Given the description of an element on the screen output the (x, y) to click on. 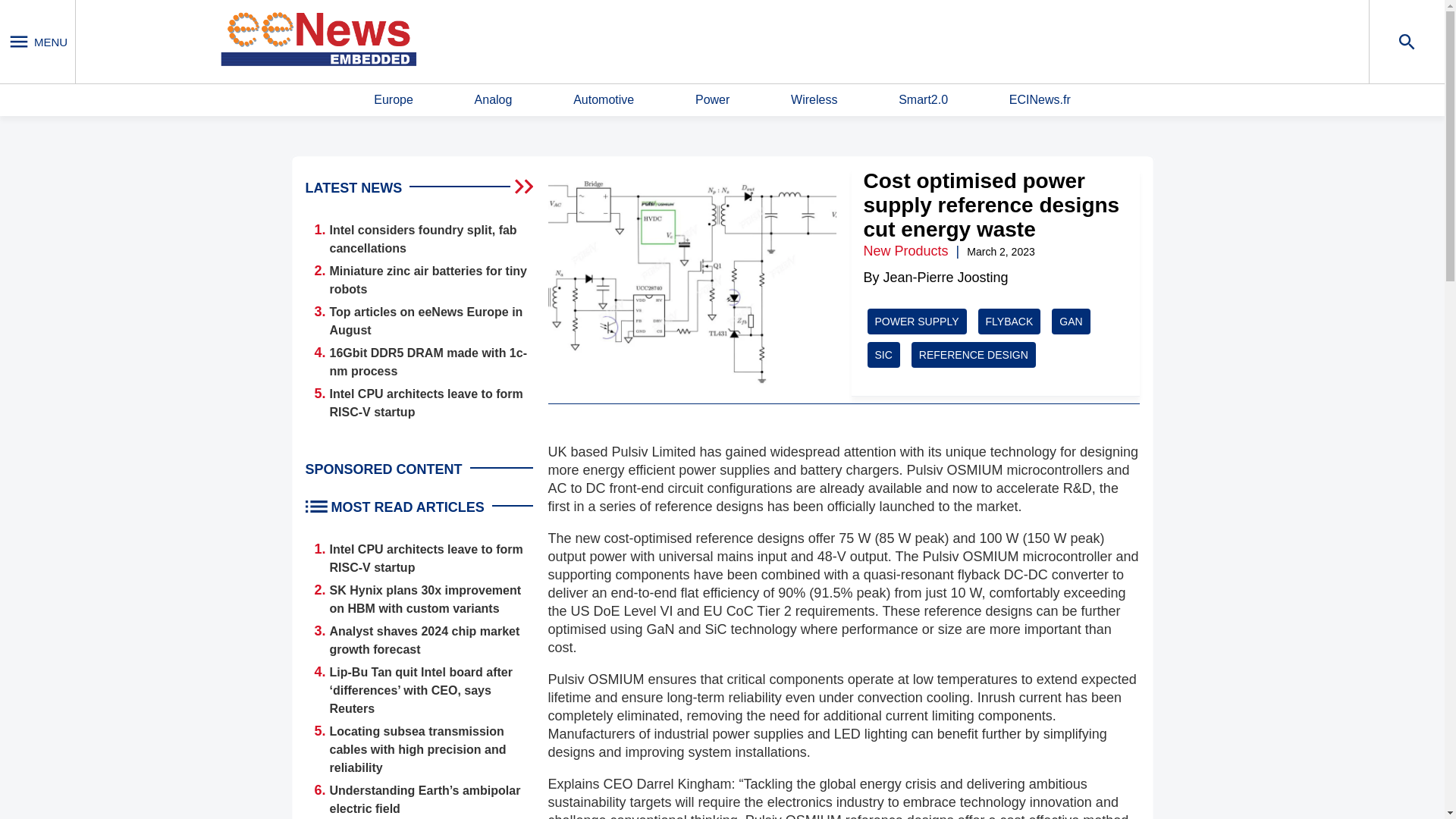
Europe (393, 99)
Automotive (603, 99)
Power (712, 99)
ECINews.fr (1039, 99)
Smart2.0 (922, 99)
Wireless (813, 99)
Analog (493, 99)
